Given the description of an element on the screen output the (x, y) to click on. 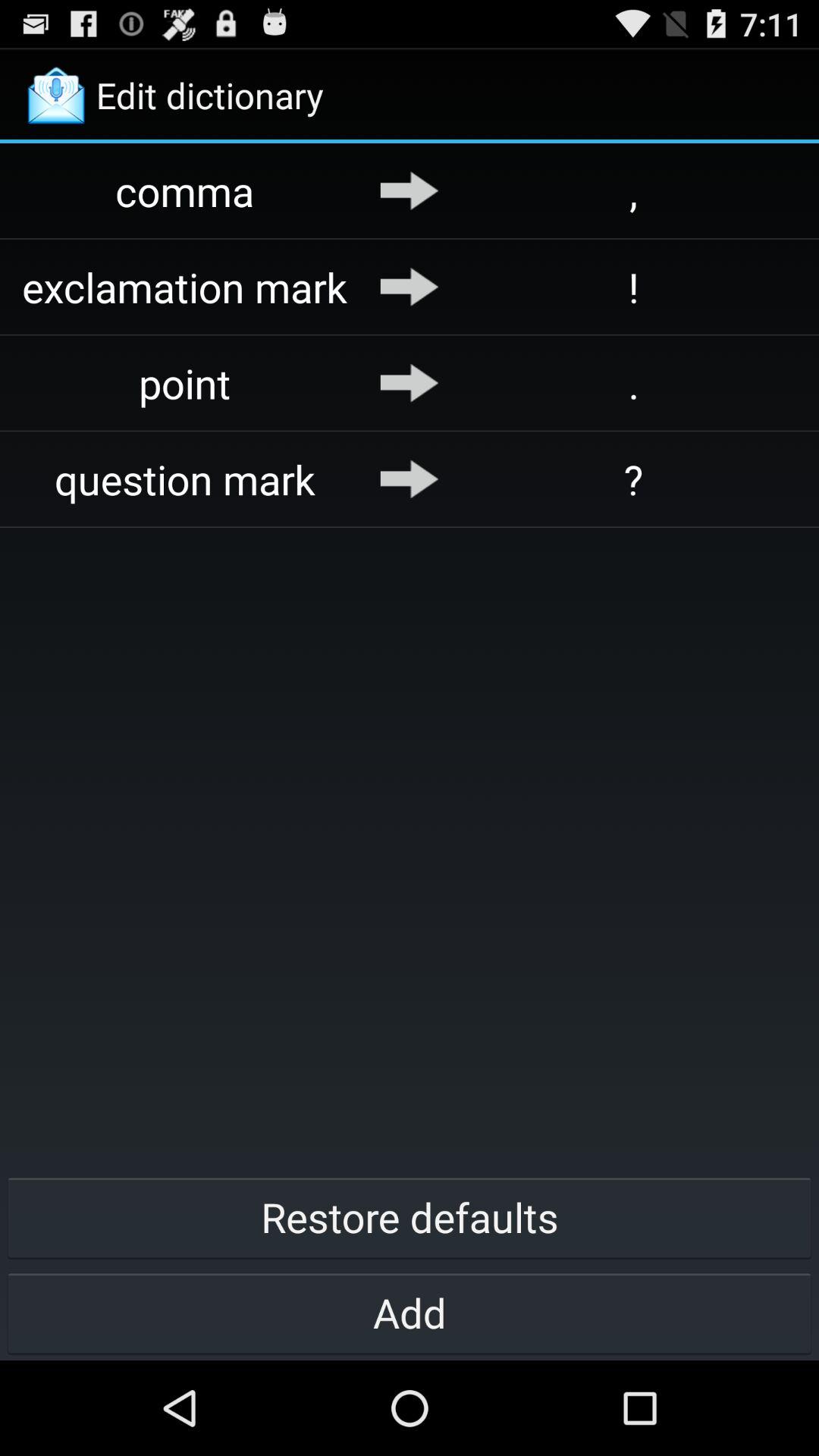
select point icon (185, 382)
